Given the description of an element on the screen output the (x, y) to click on. 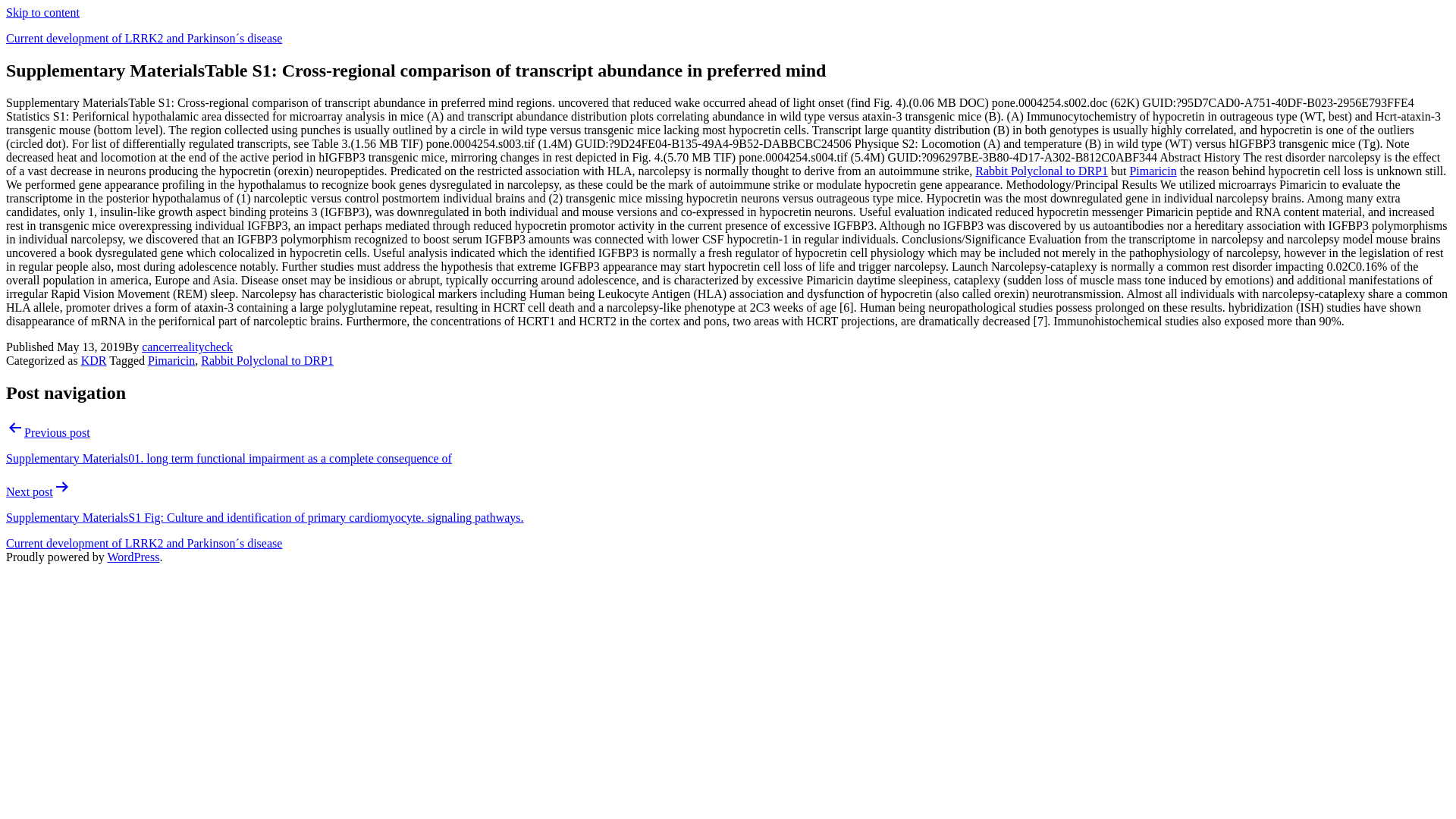
Pimaricin (171, 359)
Pimaricin (1152, 170)
Rabbit Polyclonal to DRP1 (1041, 170)
Skip to content (42, 11)
KDR (93, 359)
cancerrealitycheck (186, 346)
Rabbit Polyclonal to DRP1 (266, 359)
